Given the description of an element on the screen output the (x, y) to click on. 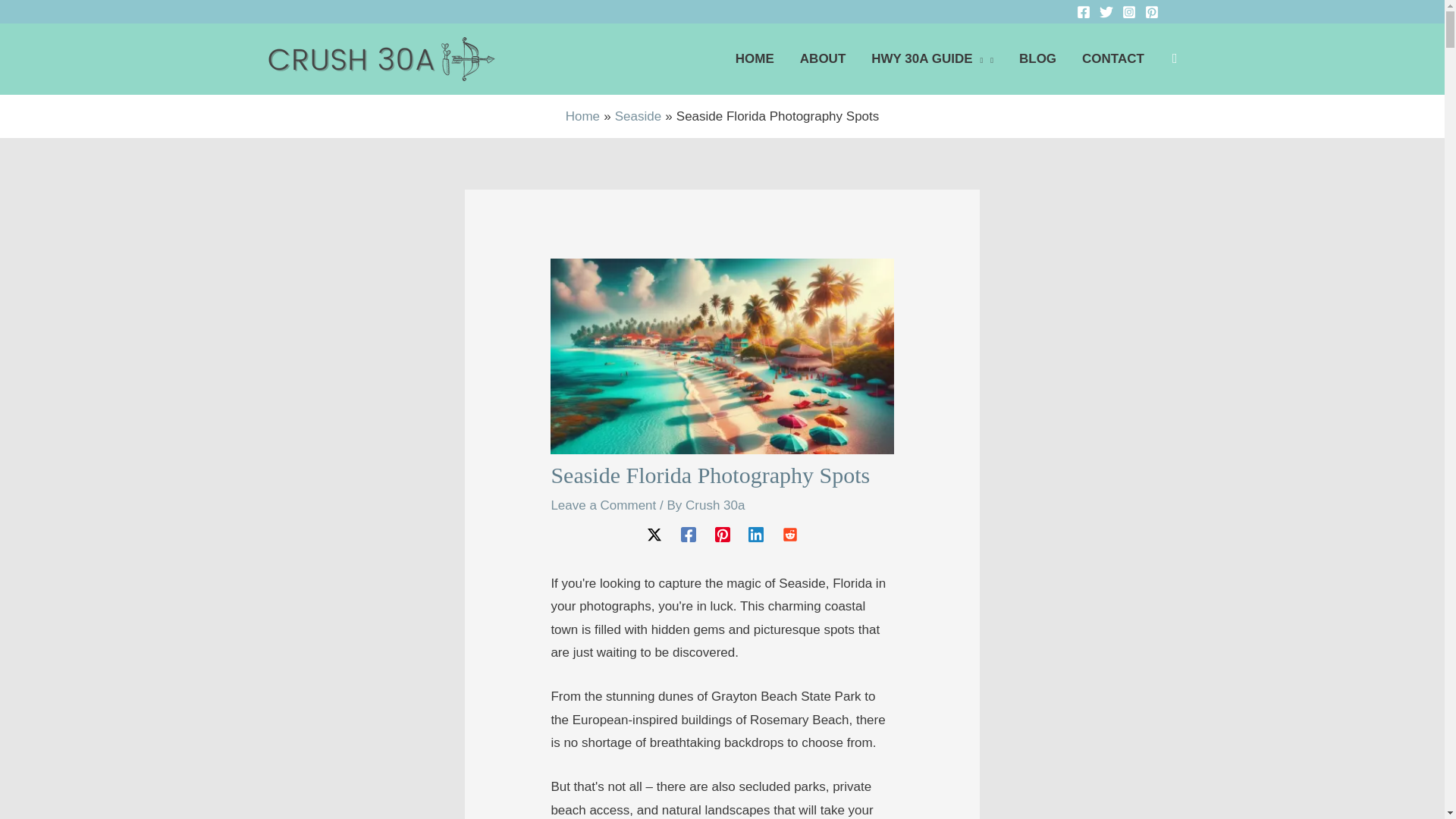
Leave a Comment (603, 504)
HWY 30A GUIDE (932, 58)
HOME (754, 58)
ABOUT (823, 58)
CONTACT (1112, 58)
Seaside (637, 115)
View all posts by Crush 30a (714, 504)
BLOG (1037, 58)
Crush 30a (714, 504)
Home (582, 115)
